Given the description of an element on the screen output the (x, y) to click on. 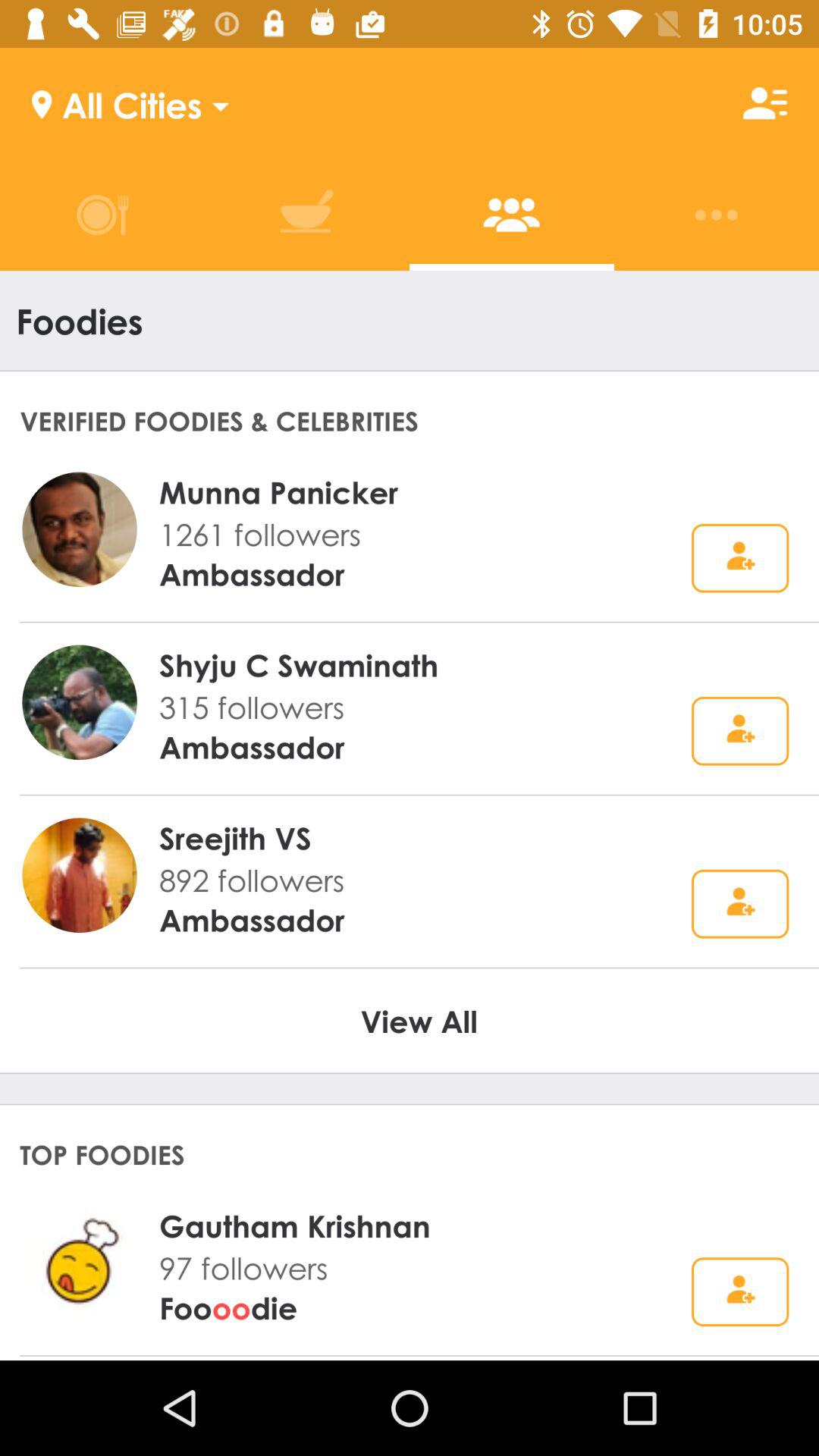
jump to all cities icon (116, 103)
